Given the description of an element on the screen output the (x, y) to click on. 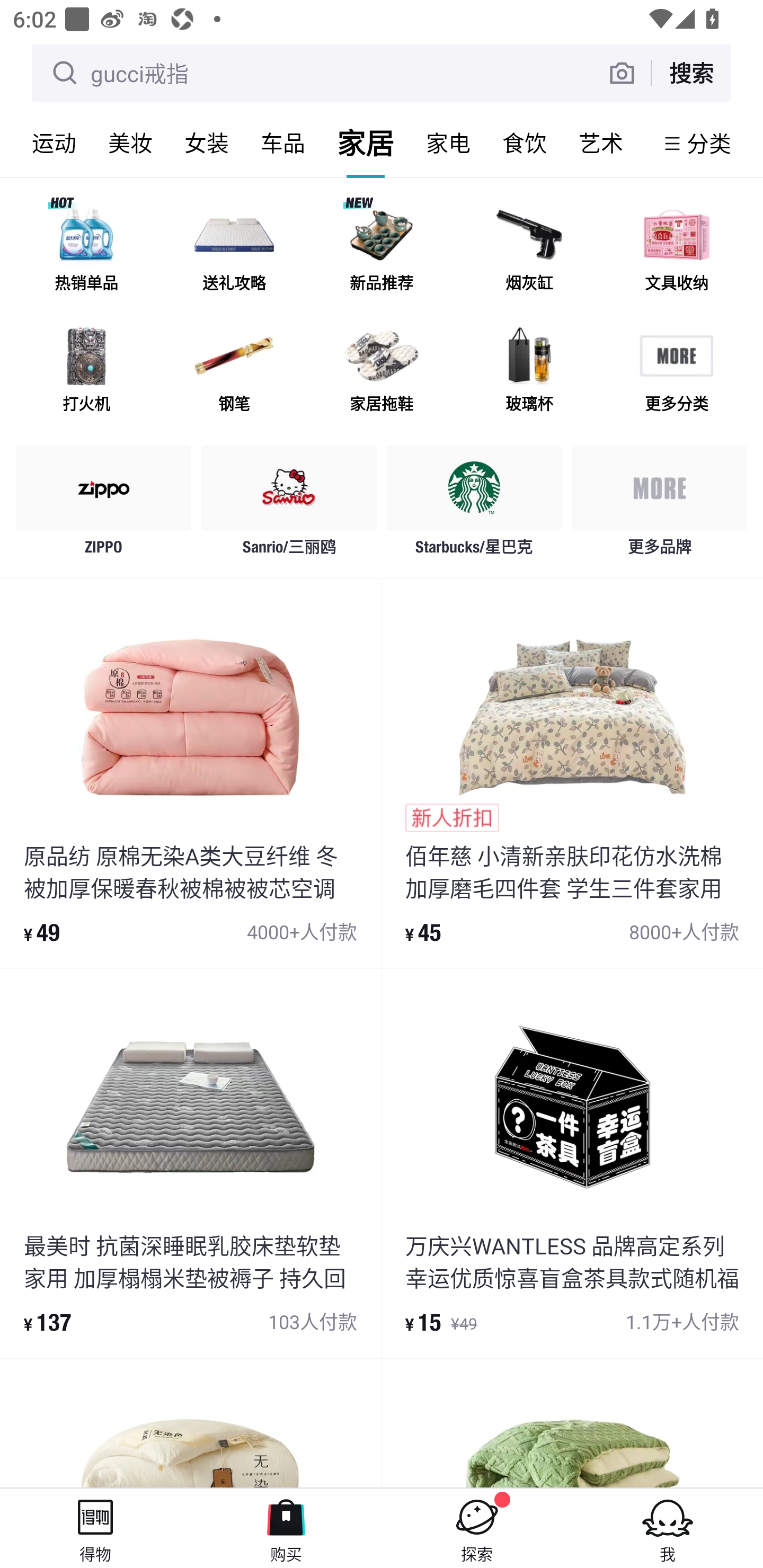
gucci戒指 搜索 (381, 72)
搜索 (690, 72)
运动 (54, 143)
美妆 (130, 143)
女装 (206, 143)
车品 (282, 143)
家居 (365, 143)
家电 (448, 143)
食饮 (524, 143)
艺术 (601, 143)
分类 (708, 143)
热销单品 (86, 251)
送礼攻略 (233, 251)
新品推荐 (381, 251)
烟灰缸 (528, 251)
文具收纳 (676, 251)
打火机 (86, 372)
钢笔 (233, 372)
家居拖鞋 (381, 372)
玻璃杯 (528, 372)
更多分类 (676, 372)
ZIPPO (103, 505)
Sanrio/三丽鸥 (288, 505)
Starbucks/星巴克 (473, 505)
更多品牌 (658, 505)
得物 (95, 1528)
购买 (285, 1528)
探索 (476, 1528)
我 (667, 1528)
